Given the description of an element on the screen output the (x, y) to click on. 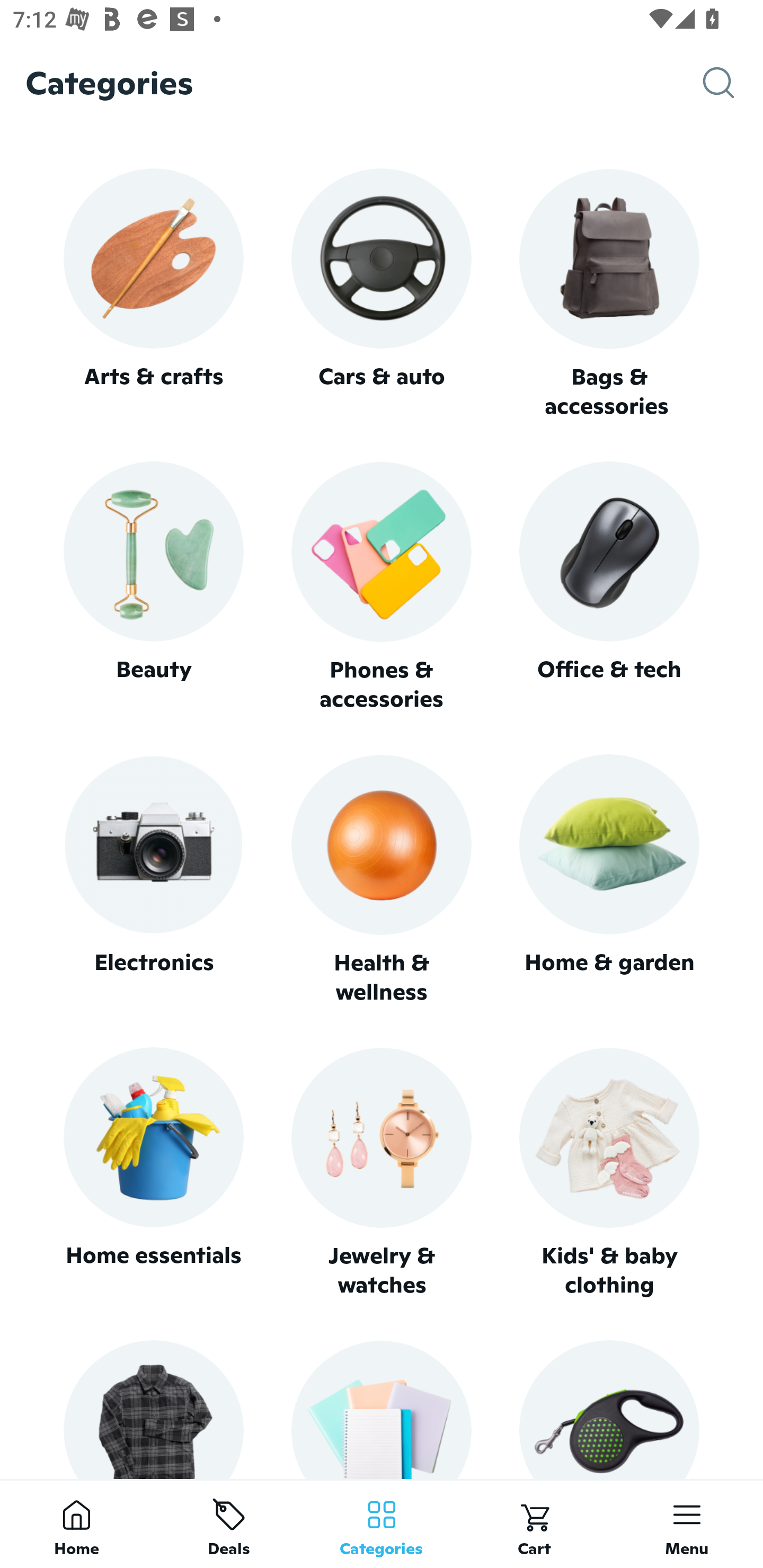
Search (732, 82)
Arts & crafts (153, 293)
Cars & auto (381, 293)
Bags & accessories  (609, 294)
Beauty (153, 586)
Office & tech (609, 586)
Phones & accessories (381, 587)
Electronics (153, 880)
Home & garden (609, 880)
Health & wellness (381, 880)
Home essentials (153, 1172)
Jewelry & watches (381, 1172)
Kids' & baby clothing (609, 1172)
Men's clothing (153, 1409)
Pet supplies (609, 1409)
Office & school supplies (381, 1409)
Home (76, 1523)
Deals (228, 1523)
Categories (381, 1523)
Cart (533, 1523)
Menu (686, 1523)
